Given the description of an element on the screen output the (x, y) to click on. 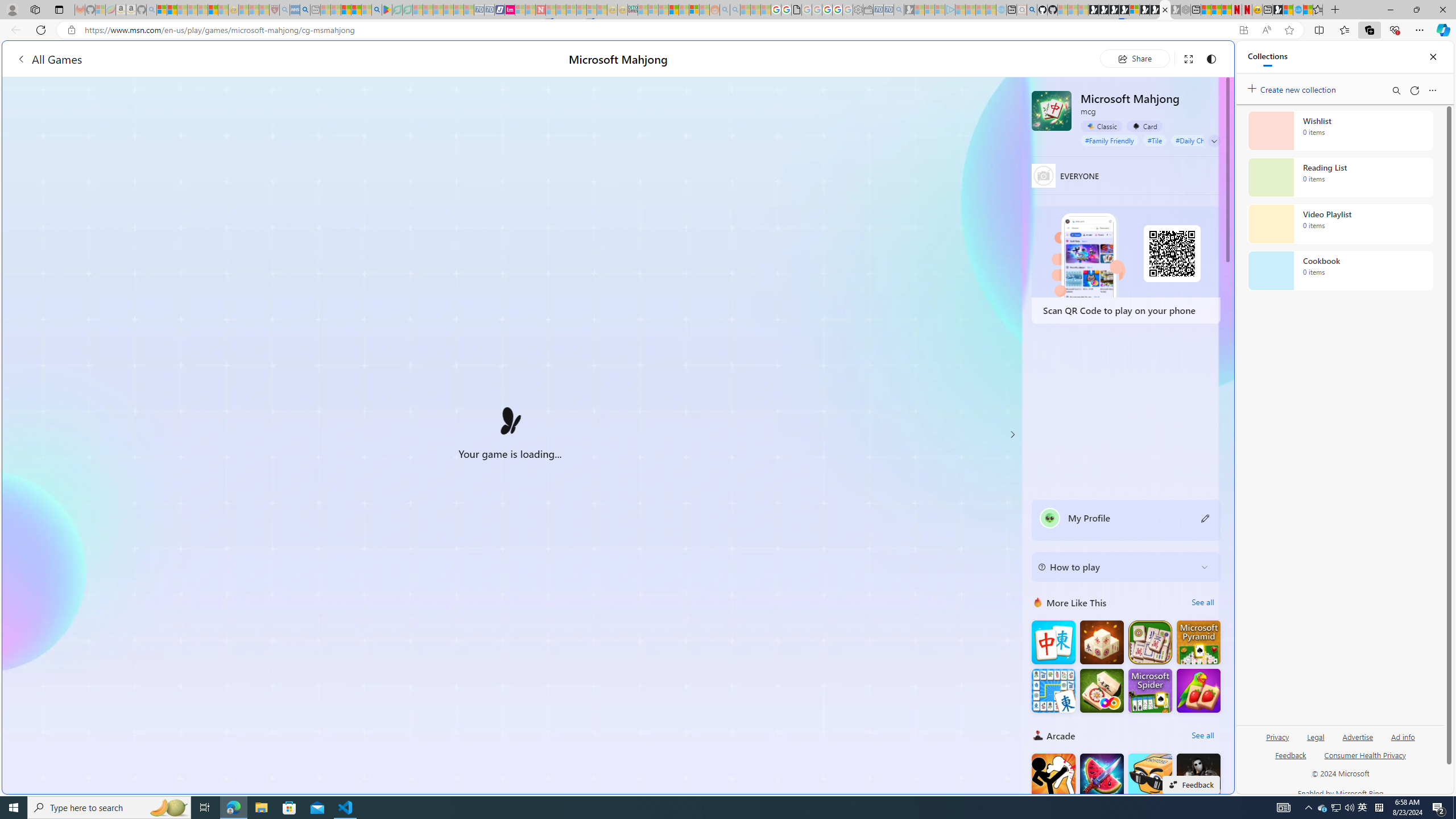
Class: control (1214, 140)
Bluey: Let's Play! - Apps on Google Play (387, 9)
EVERYONE (1043, 175)
github - Search (1032, 9)
Frequently visited (965, 151)
Reading List collection, 0 items (1339, 177)
#Tile (1154, 140)
